Given the description of an element on the screen output the (x, y) to click on. 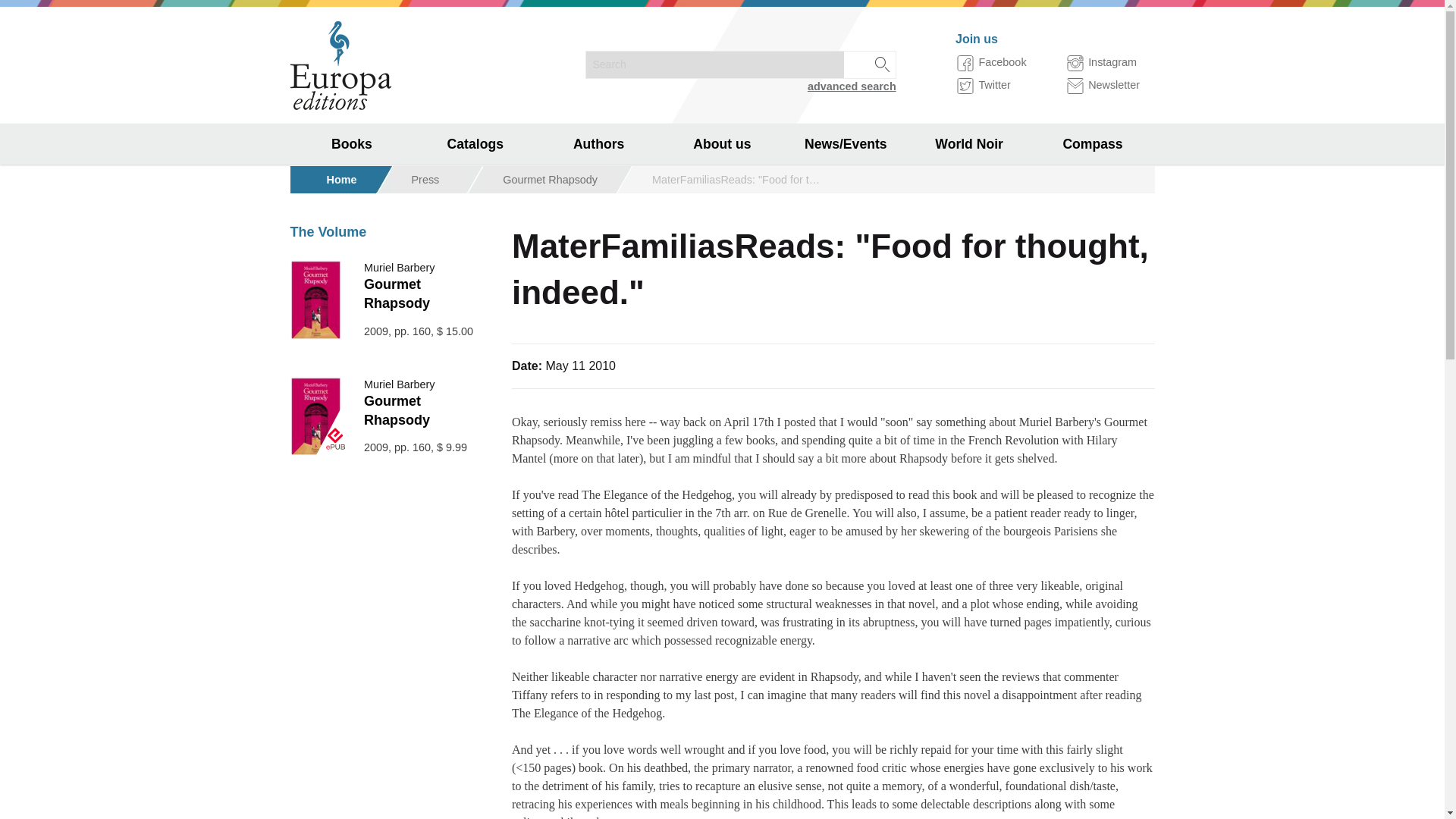
Gourmet Rhapsody (549, 179)
Europa Compass (351, 389)
Gourmet Rhapsody (396, 410)
Forthcoming (351, 225)
Newest (351, 184)
Home (341, 179)
News (845, 184)
Ebooks (351, 266)
Compass (1092, 143)
Books (351, 143)
